Given the description of an element on the screen output the (x, y) to click on. 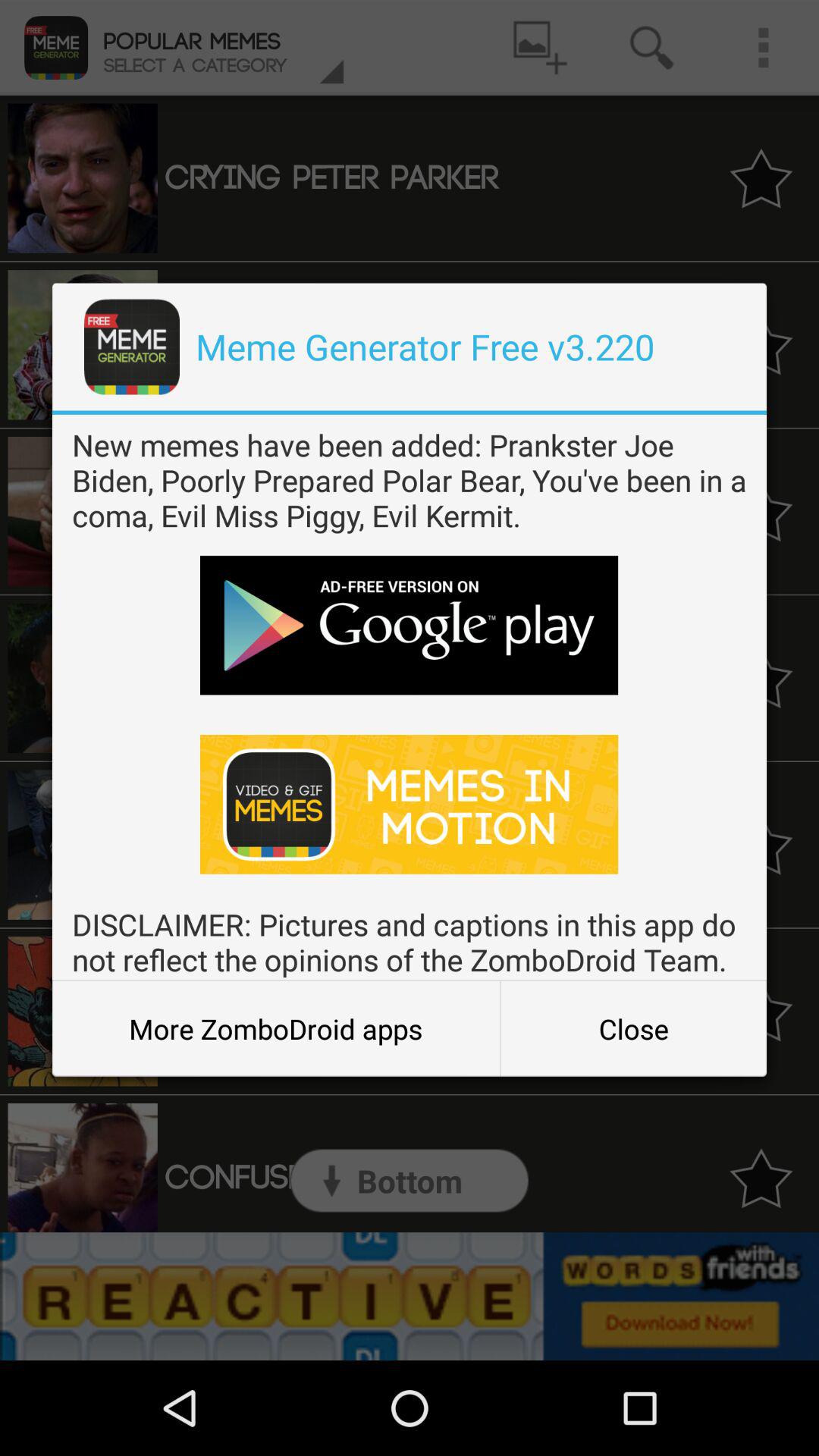
select icon below disclaimer pictures and app (633, 1028)
